Given the description of an element on the screen output the (x, y) to click on. 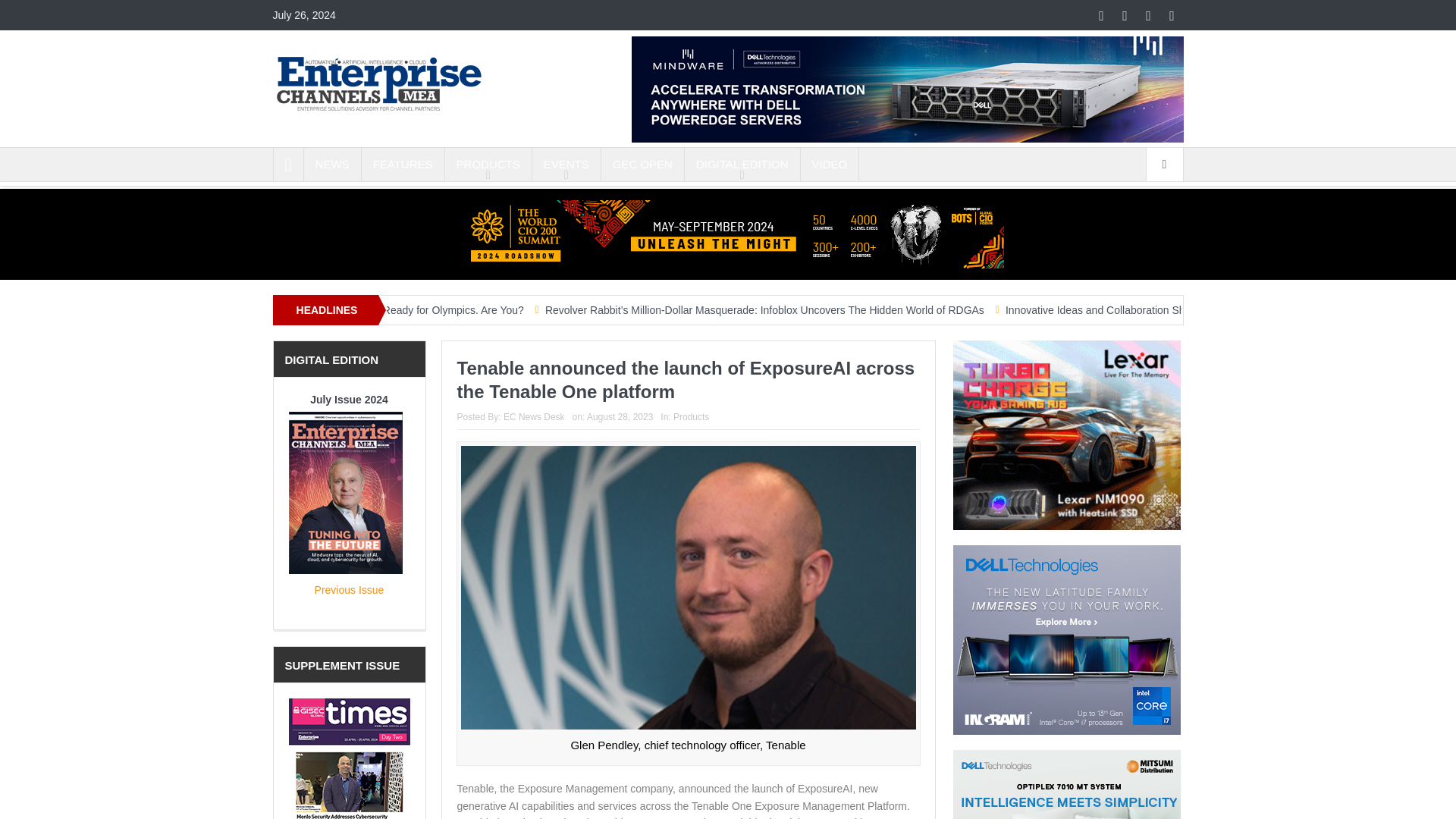
EVENTS (565, 164)
NEWS (332, 164)
View all posts in Products (690, 416)
Home (287, 164)
PRODUCTS (488, 164)
FEATURES (402, 164)
